Given the description of an element on the screen output the (x, y) to click on. 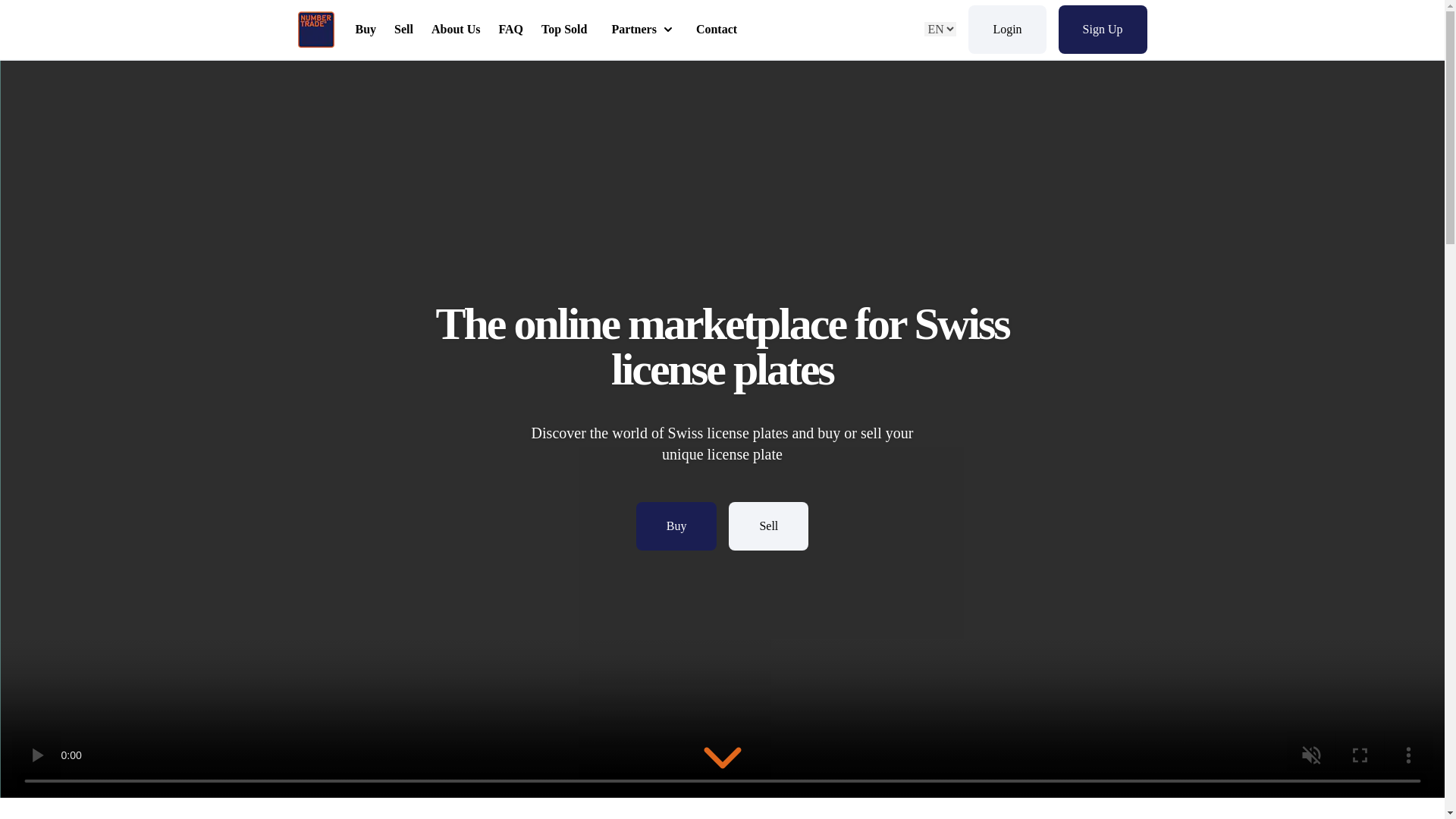
Top Sold (563, 29)
FAQ (1006, 29)
Buy (510, 29)
Sell (676, 526)
Partners (768, 526)
About Us (1102, 29)
Contact (641, 29)
